Given the description of an element on the screen output the (x, y) to click on. 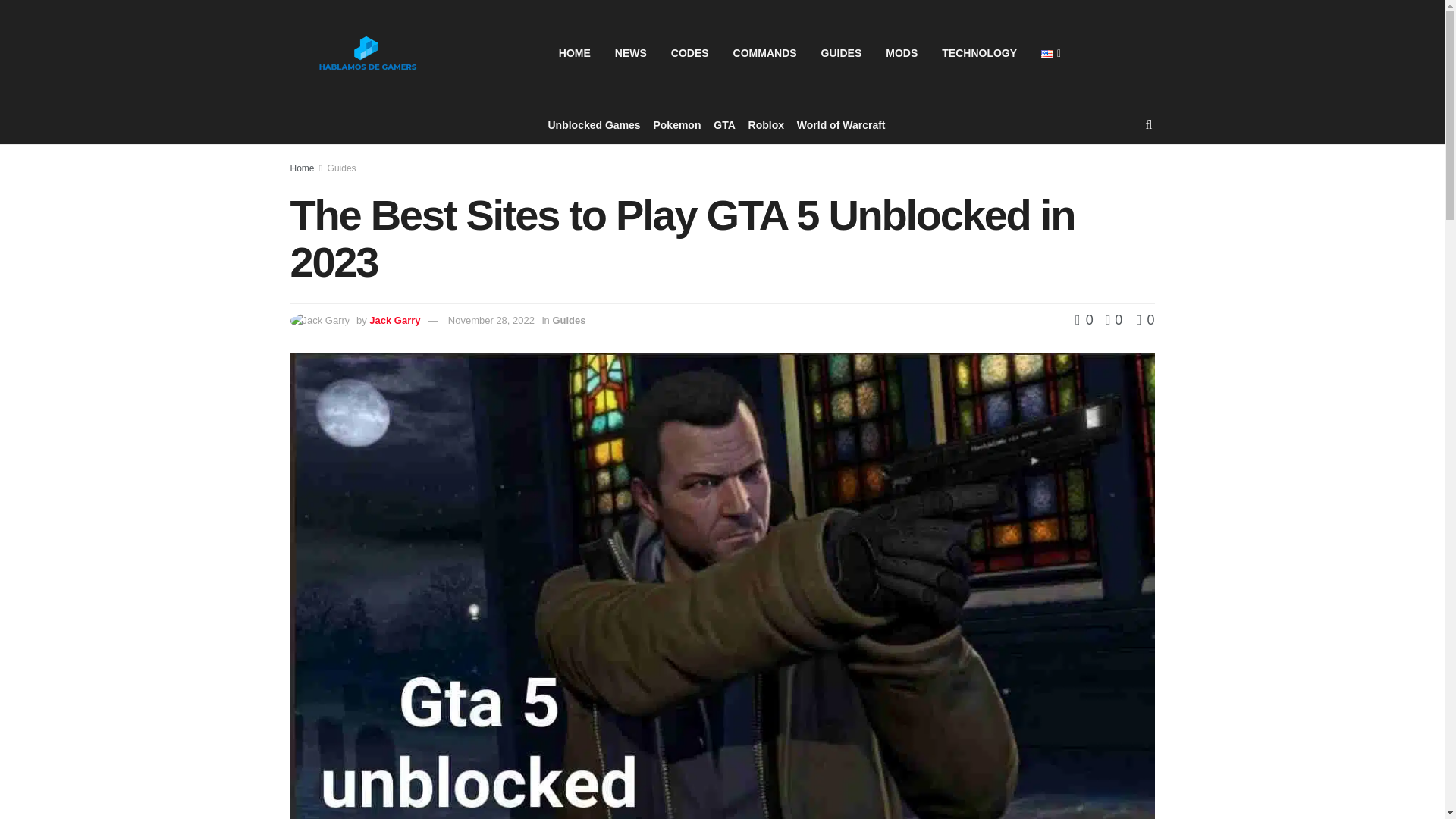
Jack Garry (394, 319)
Home (301, 167)
Roblox (766, 125)
Guides (341, 167)
Pokemon (676, 125)
Unblocked Games (593, 125)
HOME (574, 53)
Guides (568, 319)
World of Warcraft (840, 125)
GUIDES (842, 53)
